Given the description of an element on the screen output the (x, y) to click on. 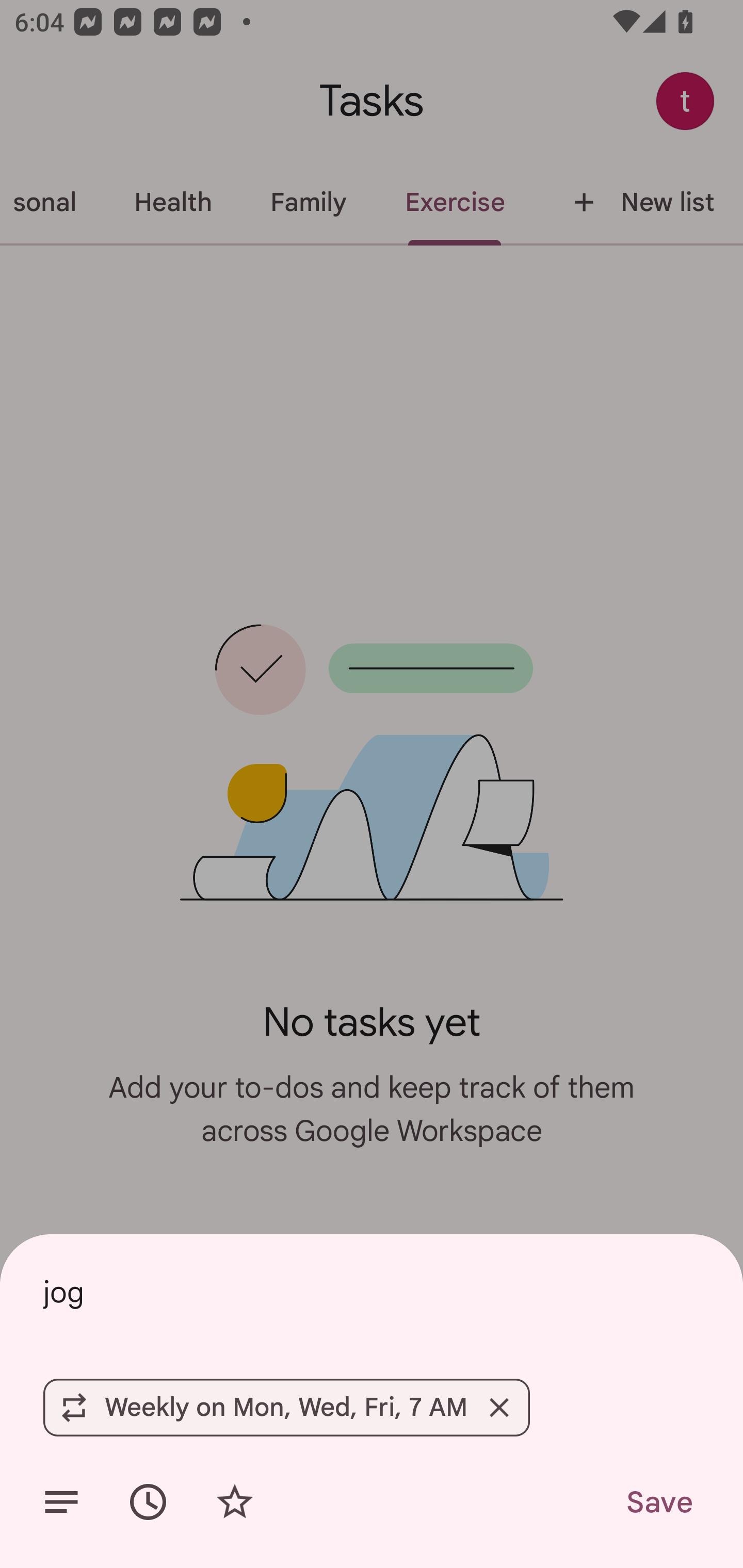
jog (371, 1291)
Save (659, 1501)
Add details (60, 1501)
Set date/time (147, 1501)
Add star (234, 1501)
